Given the description of an element on the screen output the (x, y) to click on. 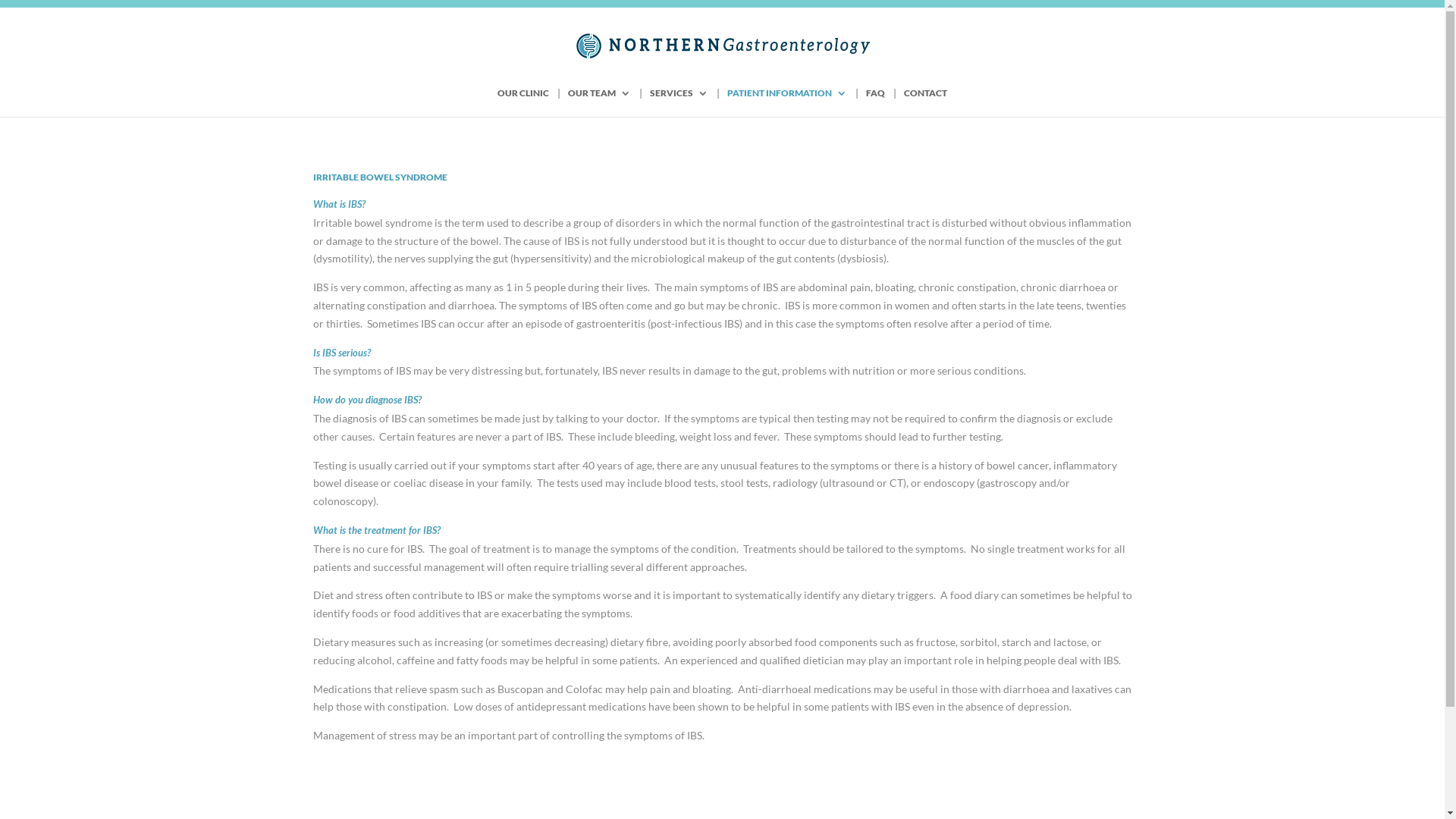
OUR TEAM Element type: text (598, 101)
CONTACT Element type: text (925, 101)
OUR CLINIC Element type: text (523, 101)
PATIENT INFORMATION Element type: text (787, 101)
SERVICES Element type: text (678, 101)
FAQ Element type: text (875, 101)
